Given the description of an element on the screen output the (x, y) to click on. 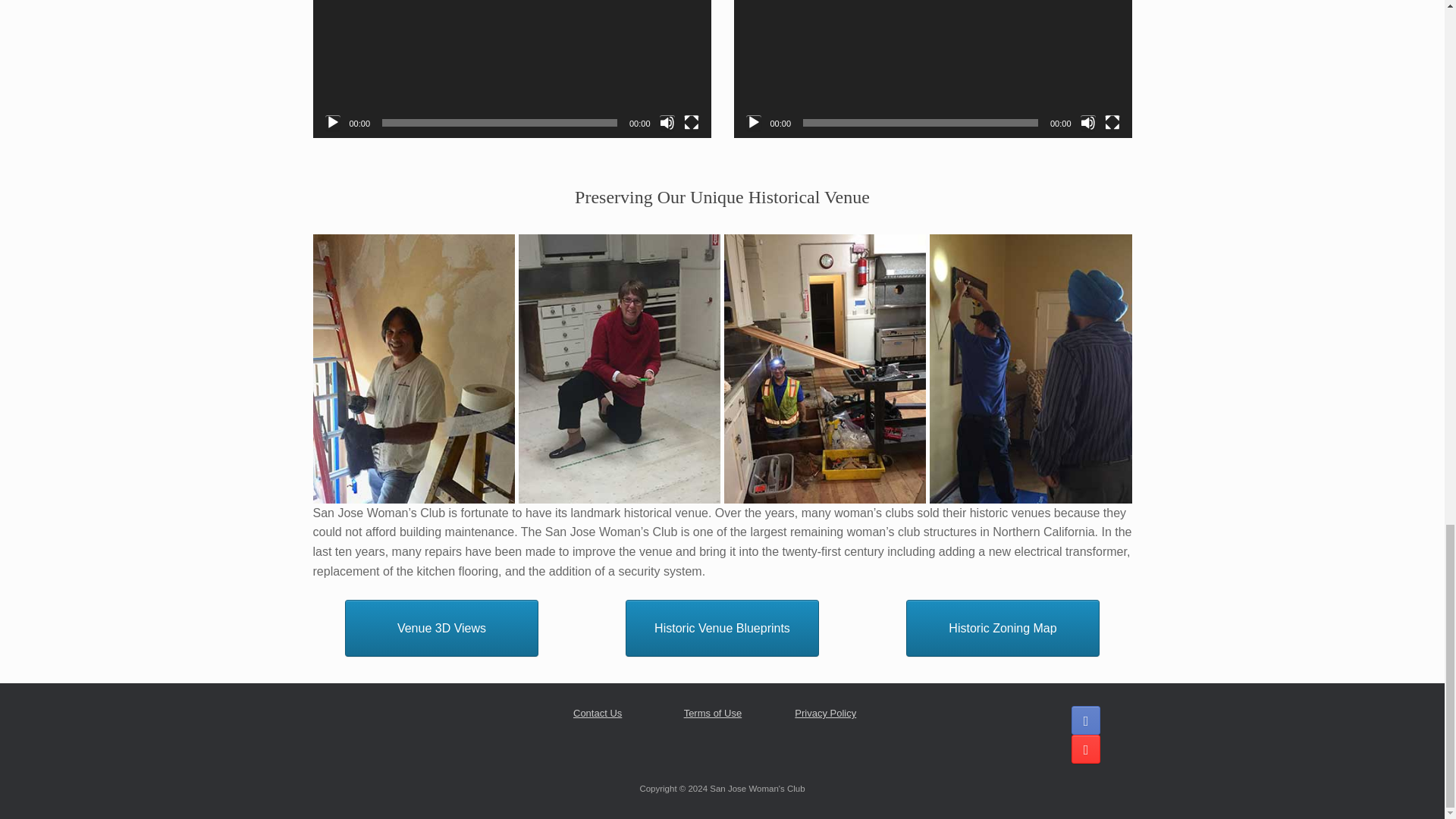
Mute (1087, 122)
Play (753, 122)
Fullscreen (1111, 122)
Play (331, 122)
Fullscreen (691, 122)
Mute (667, 122)
San Jose Woman's Club Pinterest (1085, 748)
San Jose Woman's Club Facebook (1085, 719)
